Given the description of an element on the screen output the (x, y) to click on. 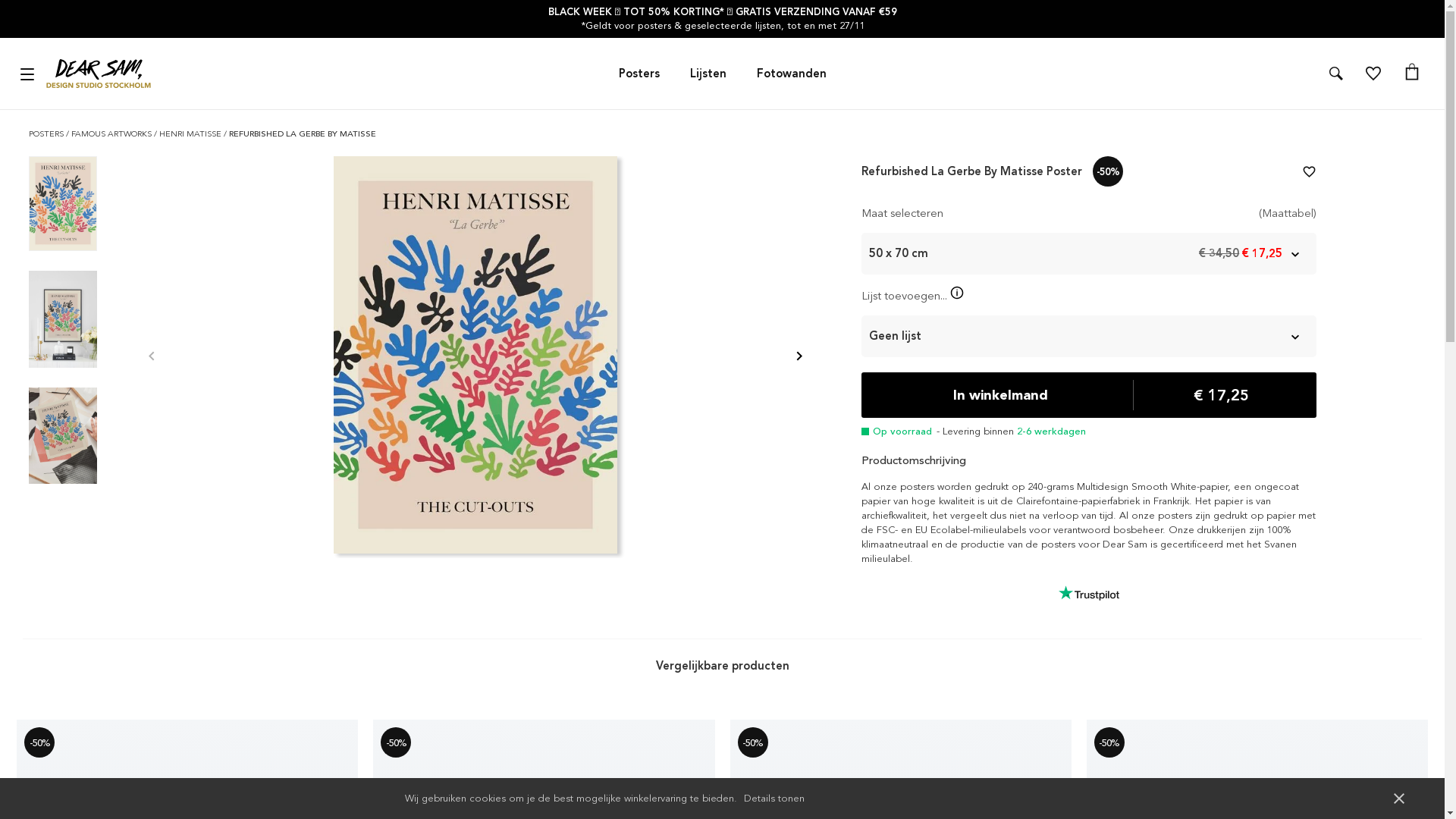
Posters Element type: text (638, 73)
Details tonen Element type: text (773, 797)
Fotowanden Element type: text (791, 73)
Lijsten Element type: text (707, 73)
FAMOUS ARTWORKS Element type: text (112, 133)
HENRI MATISSE Element type: text (191, 133)
POSTERS Element type: text (46, 133)
Customer reviews powered by Trustpilot Element type: hover (1088, 592)
favorite_border Element type: text (1309, 170)
